Given the description of an element on the screen output the (x, y) to click on. 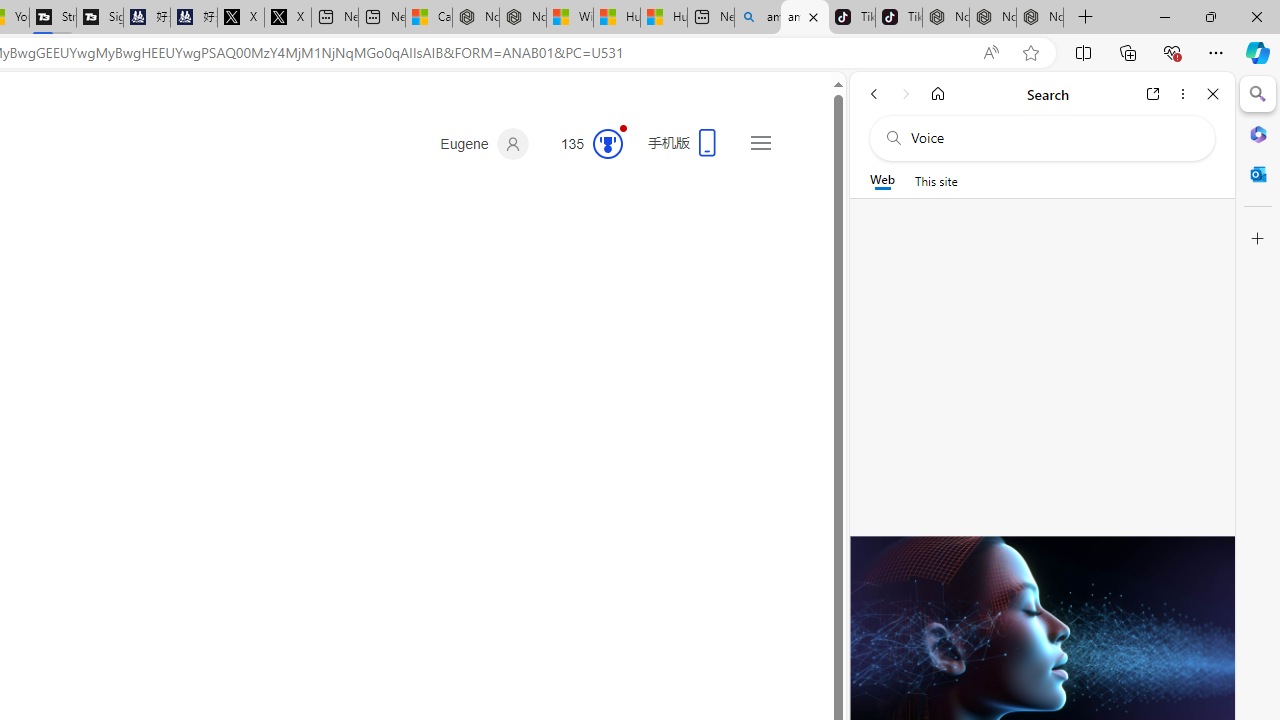
Nordace - Siena Pro 15 Essential Set (1040, 17)
Settings and quick links (760, 142)
Outlook (1258, 174)
Microsoft 365 (1258, 133)
